Given the description of an element on the screen output the (x, y) to click on. 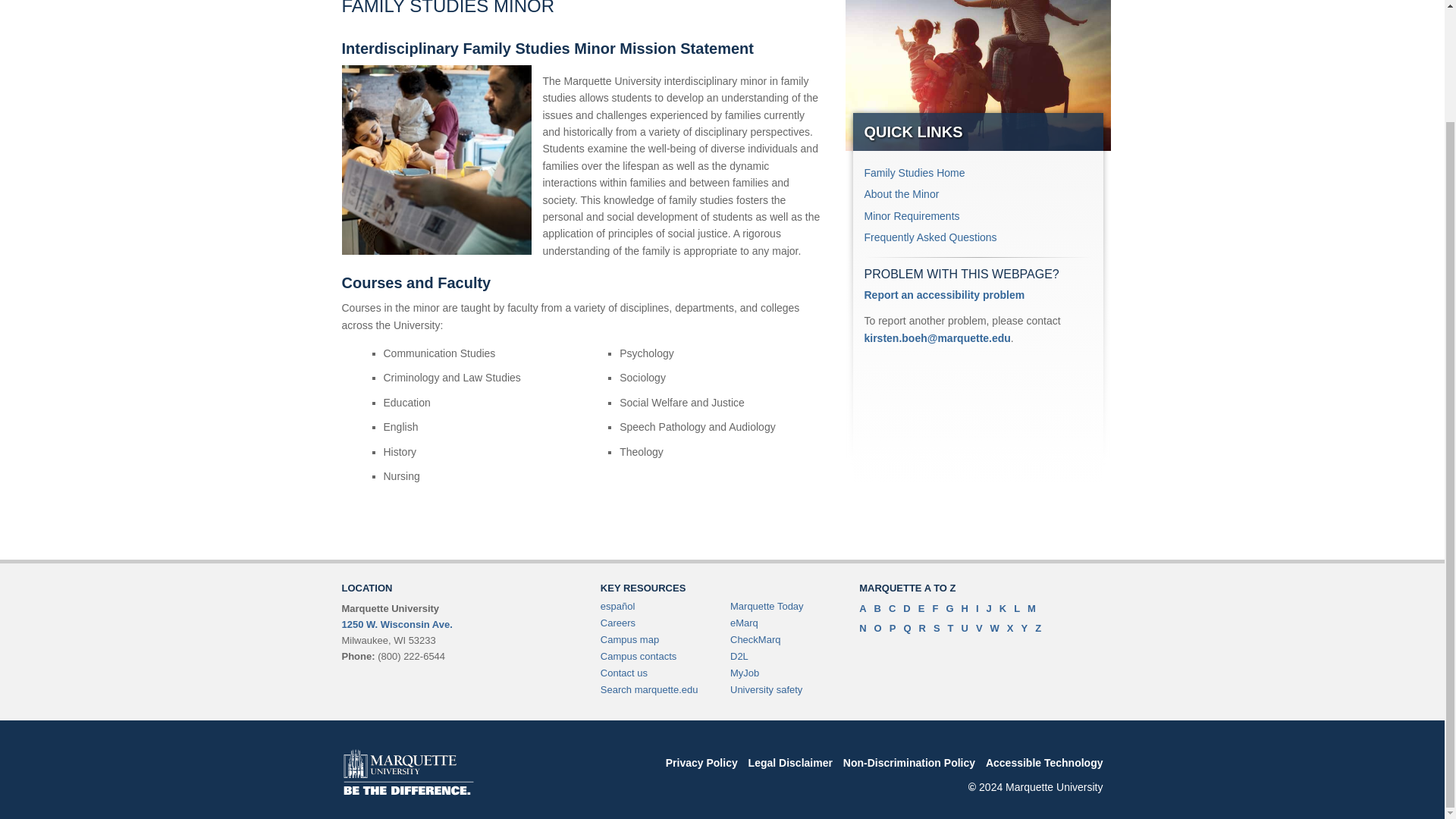
Contact us (623, 672)
1250 W. Wisconsin Ave. (395, 624)
Frequently Asked Questions (930, 236)
Careers (616, 622)
Search marquette.edu (648, 689)
Marquette Today (766, 605)
Family Studies Home (914, 173)
D2L (739, 655)
Minor Requirements (911, 215)
MyJob (744, 672)
Campus map (629, 639)
Report an accessibility problem (944, 295)
University safety (766, 689)
About the Minor (901, 193)
CheckMarq (755, 639)
